Given the description of an element on the screen output the (x, y) to click on. 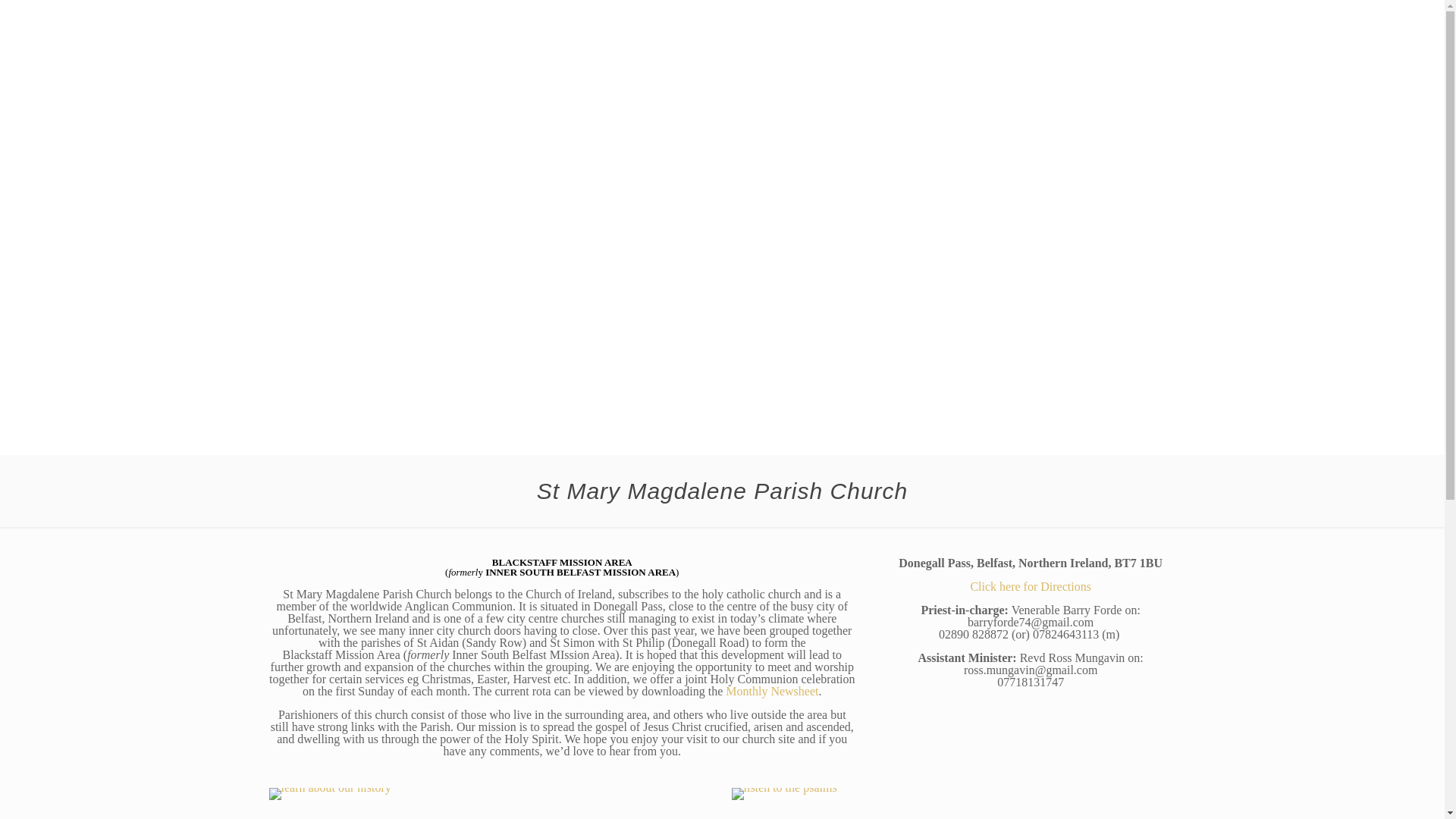
Click here for Directions (1029, 585)
Monthly Newsheet (771, 690)
